Given the description of an element on the screen output the (x, y) to click on. 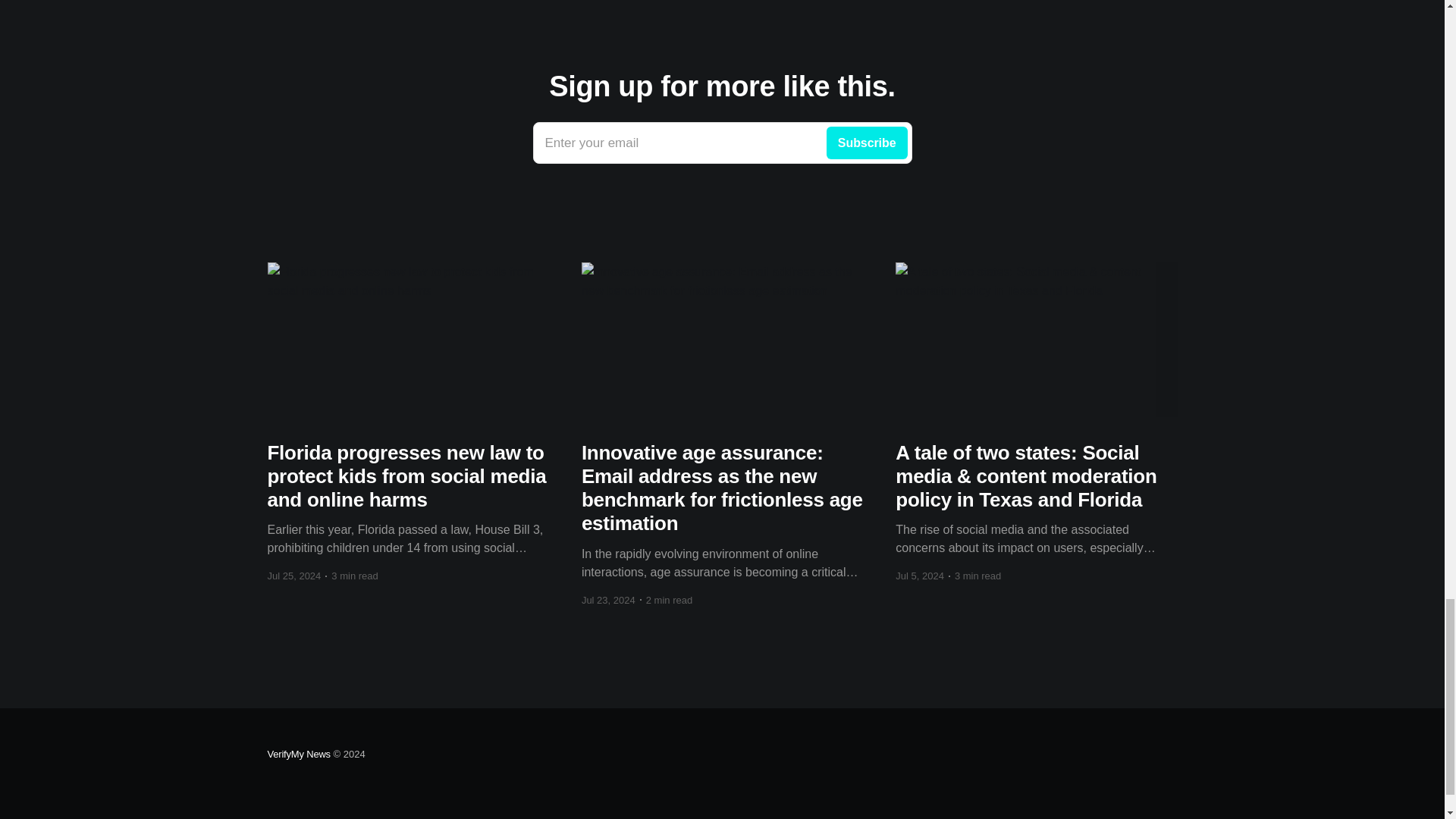
VerifyMy News (721, 143)
